Given the description of an element on the screen output the (x, y) to click on. 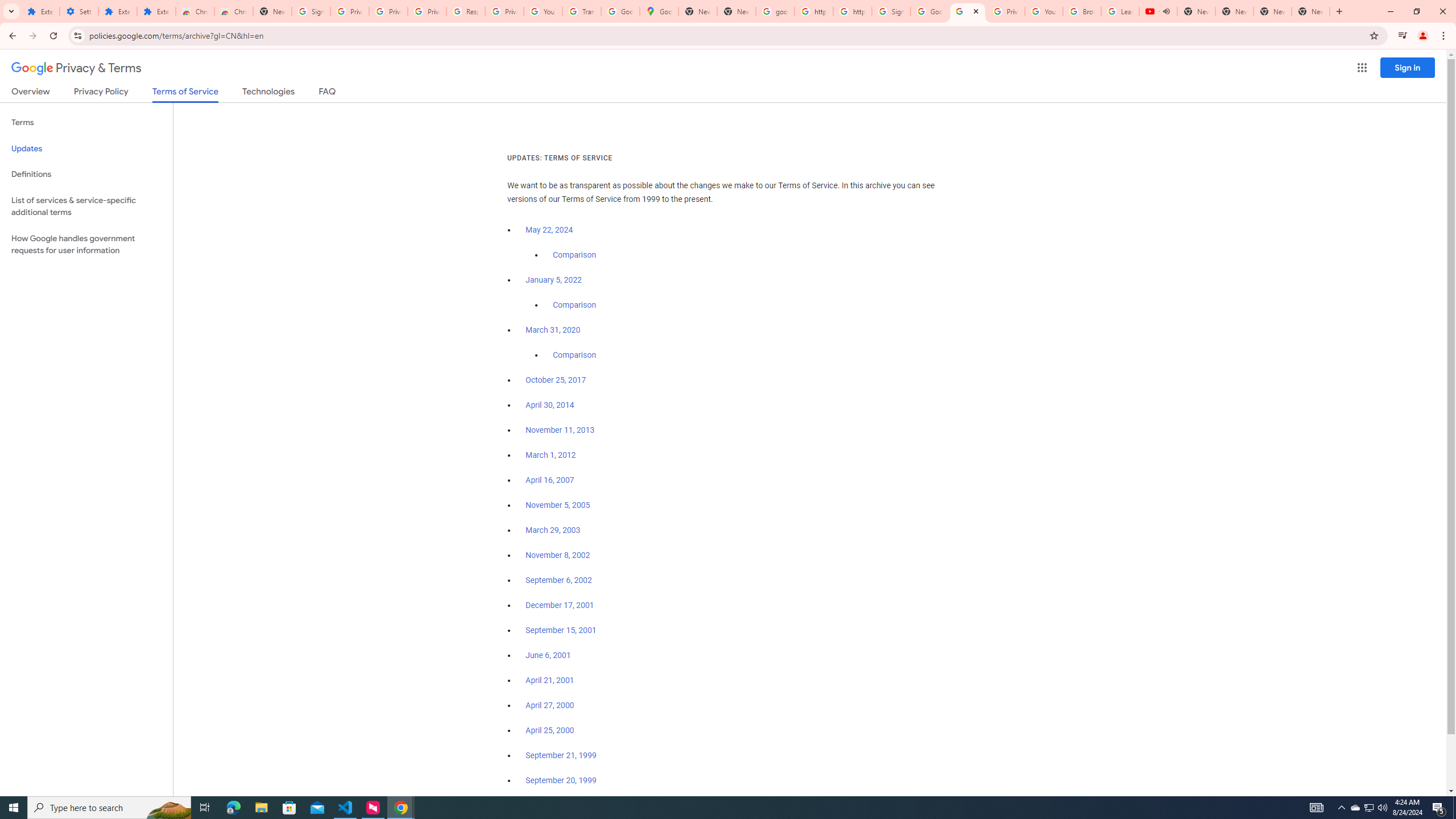
FAQ (327, 93)
Overview (30, 93)
April 21, 2001 (550, 679)
Privacy Policy (100, 93)
Technologies (268, 93)
https://scholar.google.com/ (852, 11)
Chrome Web Store (194, 11)
April 16, 2007 (550, 480)
March 1, 2012 (550, 455)
June 6, 2001 (547, 655)
March 29, 2003 (552, 530)
